Given the description of an element on the screen output the (x, y) to click on. 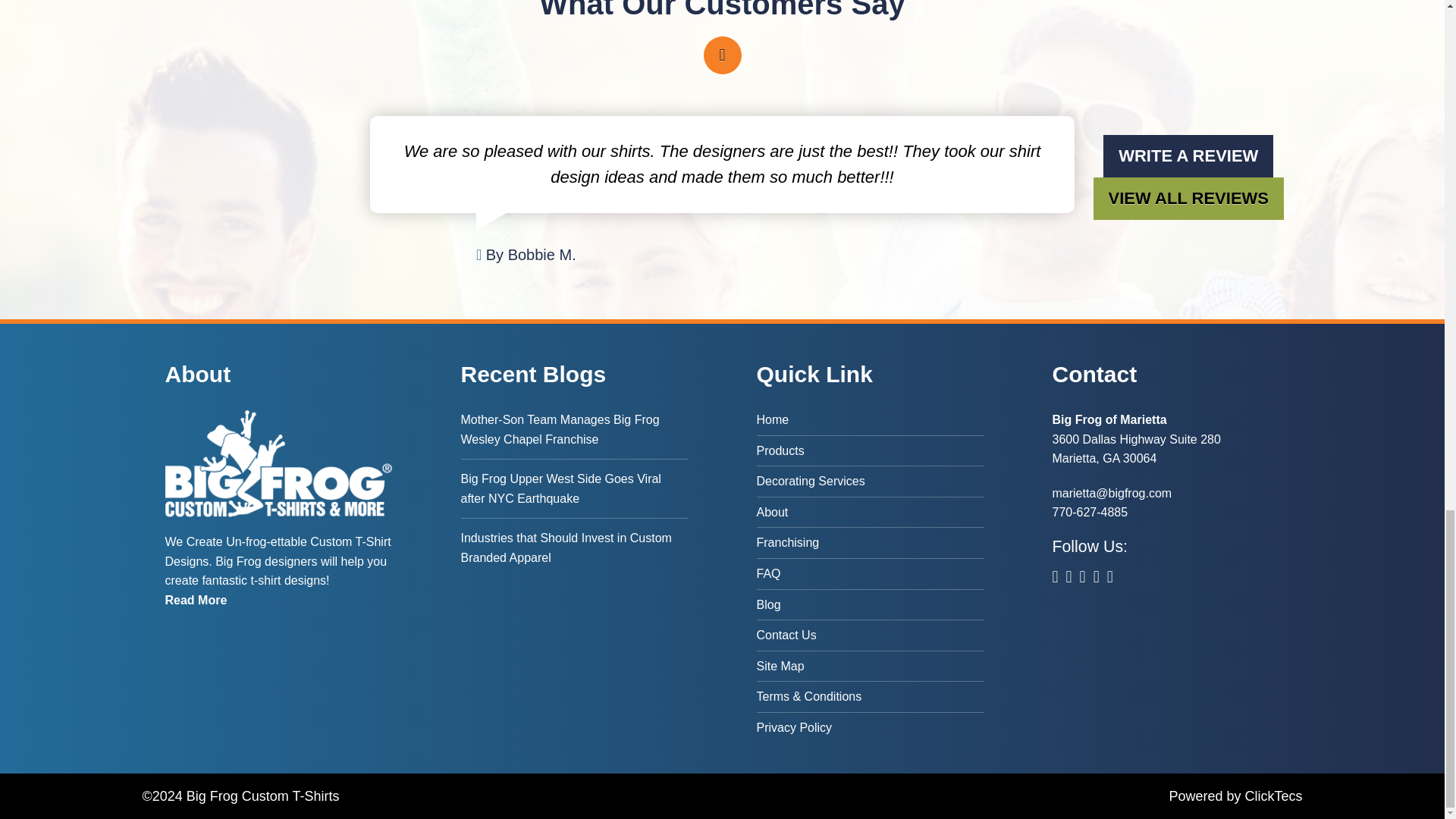
Mother-Son Team Manages Big Frog Wesley Chapel Franchise (574, 434)
Read More (196, 599)
VIEW ALL REVIEWS (1188, 198)
WRITE A REVIEW (1187, 156)
Big Frog Upper West Side Goes Viral after NYC Earthquake (574, 488)
ClickTecs - Creativity with Expertise (1272, 795)
